Given the description of an element on the screen output the (x, y) to click on. 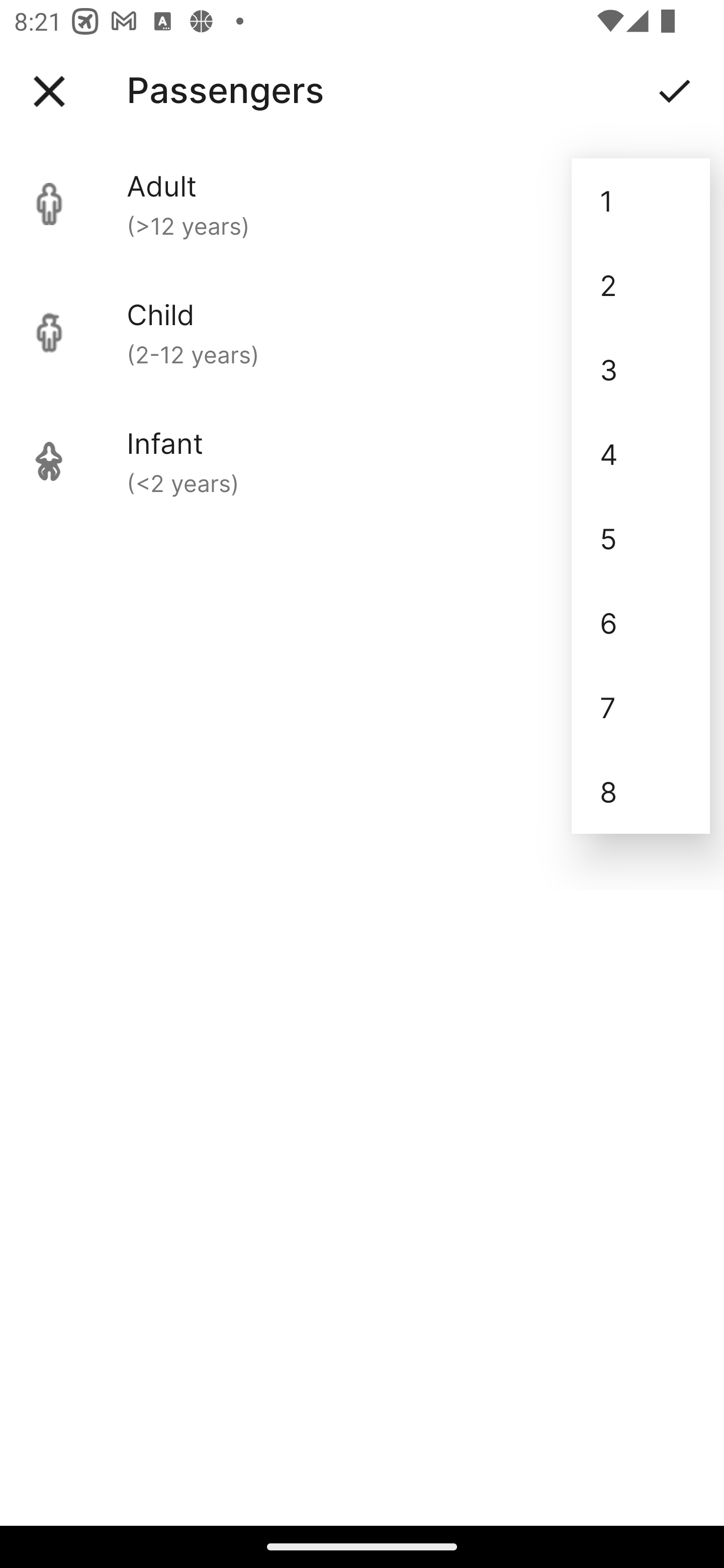
1 (640, 200)
2 (640, 285)
3 (640, 368)
4 (640, 452)
5 (640, 537)
6 (640, 622)
7 (640, 706)
8 (640, 791)
